Given the description of an element on the screen output the (x, y) to click on. 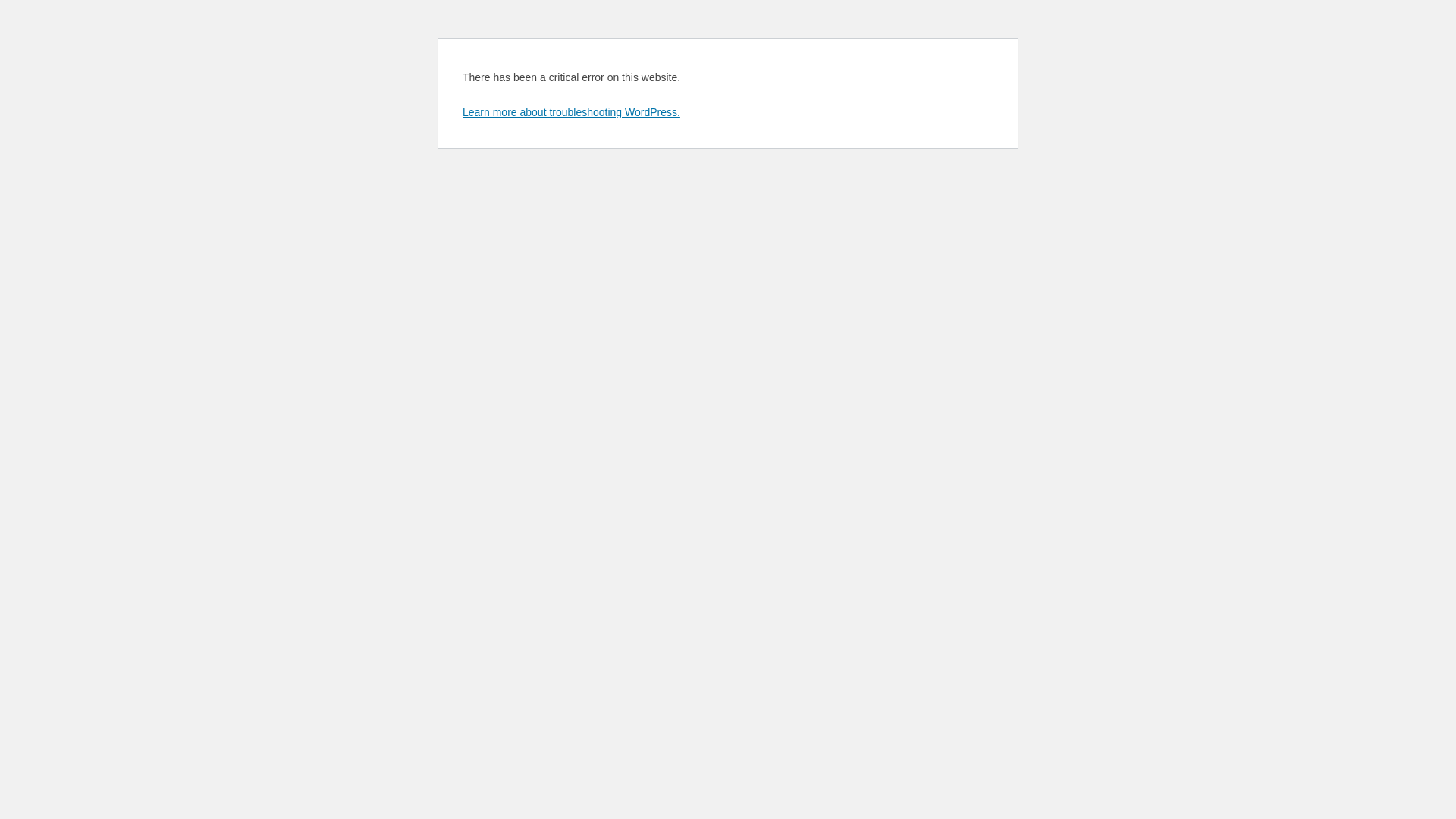
Learn more about troubleshooting WordPress. Element type: text (571, 112)
